Given the description of an element on the screen output the (x, y) to click on. 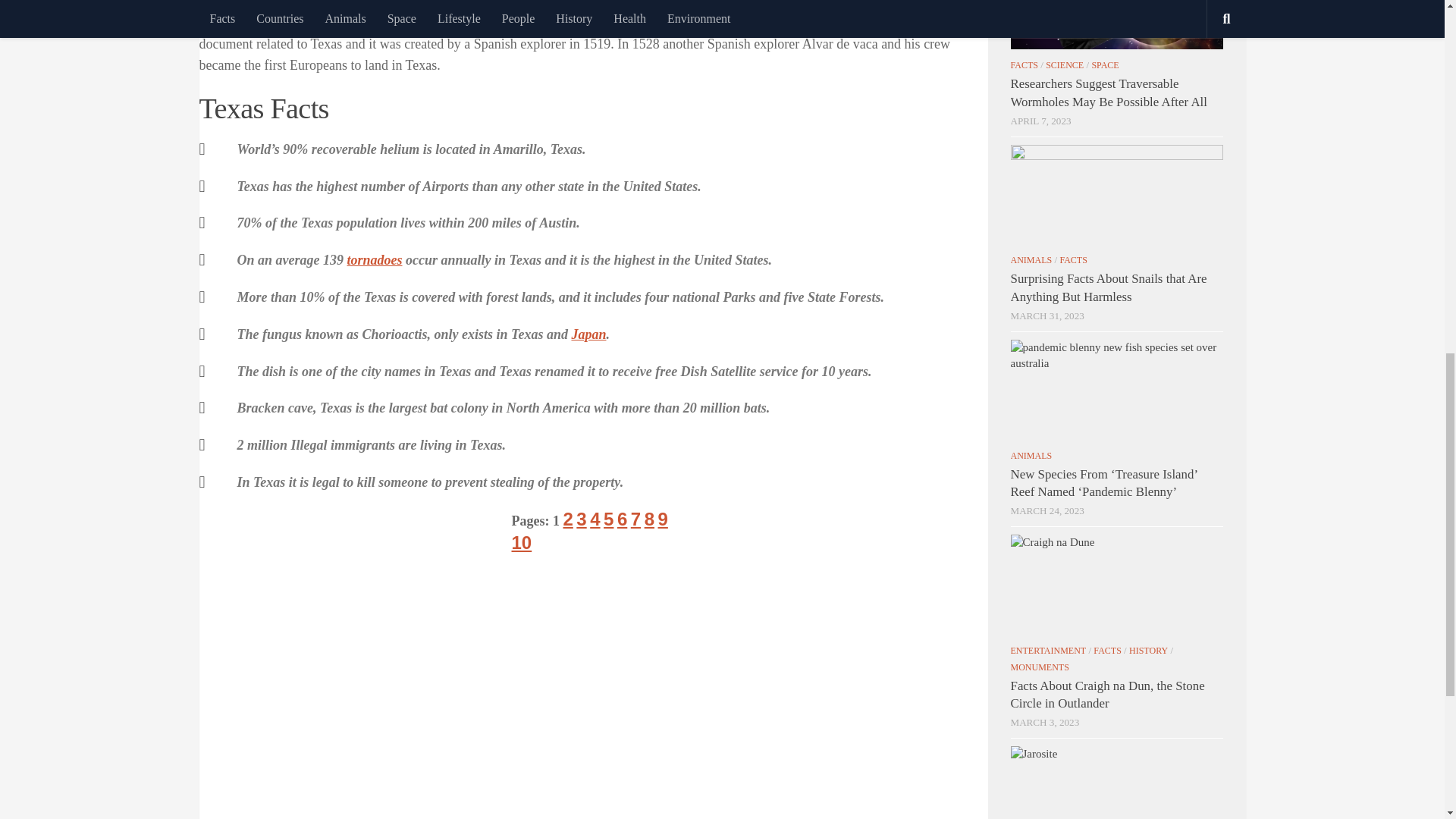
Japan (587, 121)
tornadoes (375, 47)
10 (521, 330)
